Given the description of an element on the screen output the (x, y) to click on. 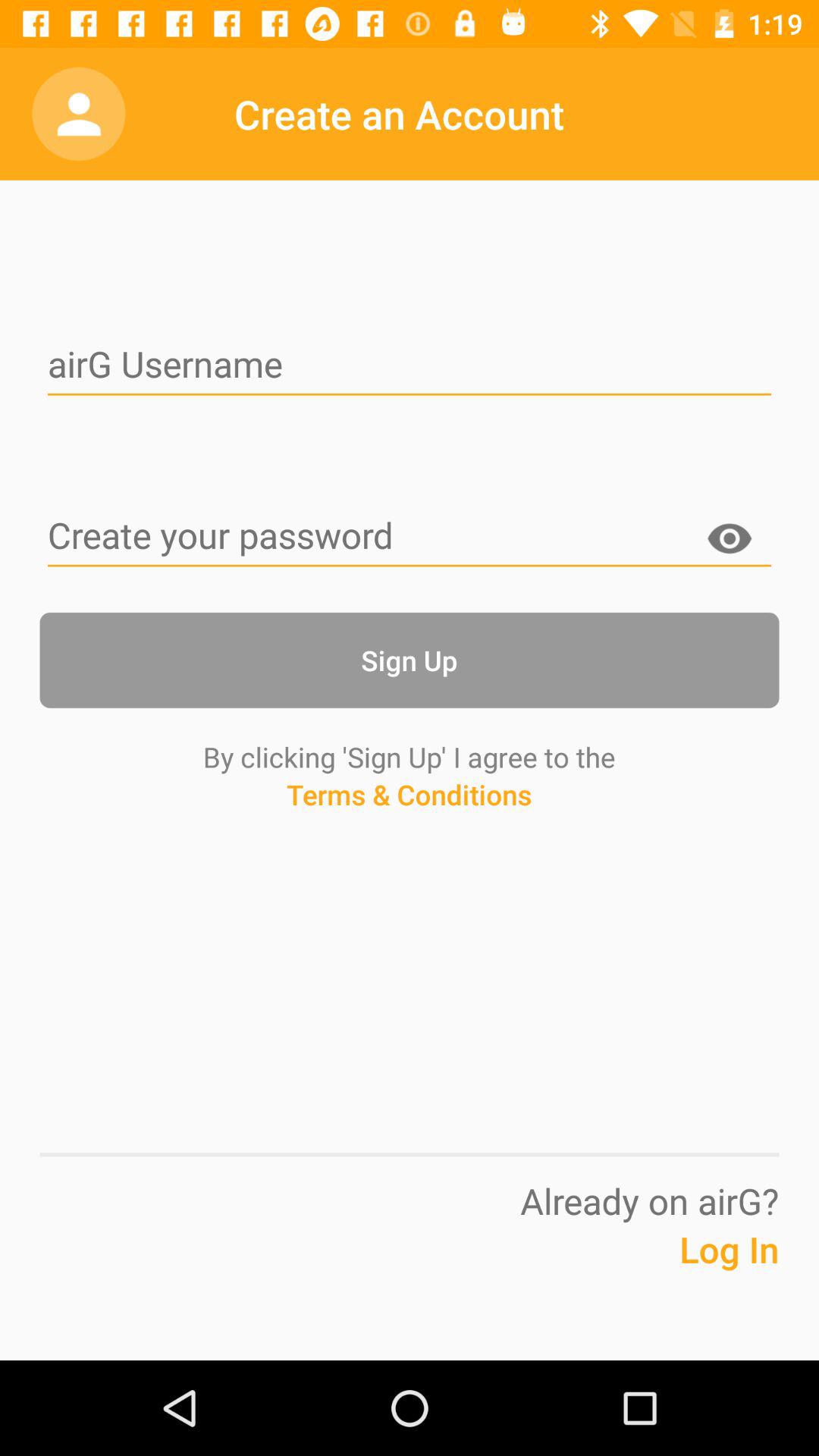
view password (729, 541)
